Given the description of an element on the screen output the (x, y) to click on. 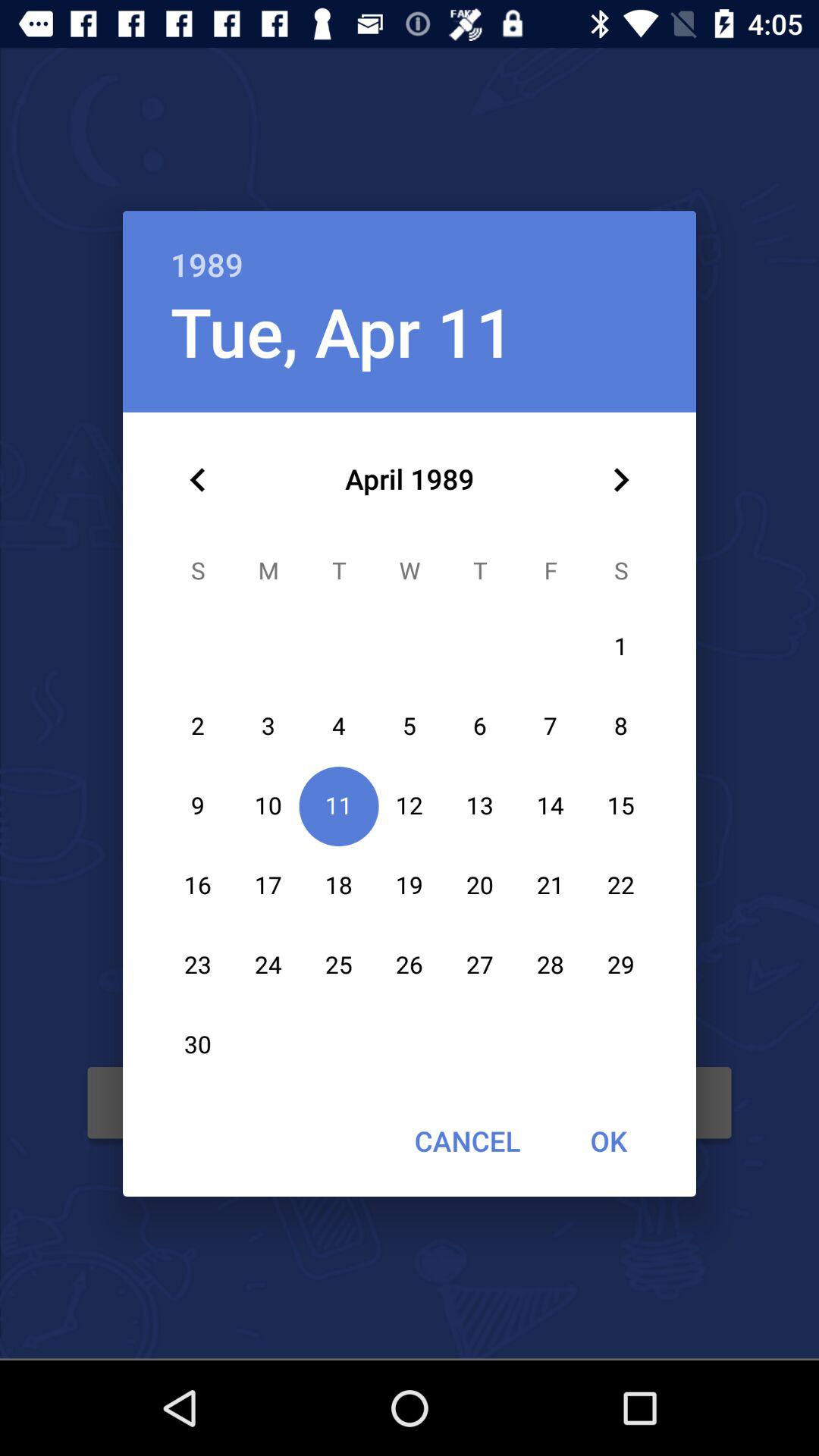
choose the 1989 icon (409, 248)
